Given the description of an element on the screen output the (x, y) to click on. 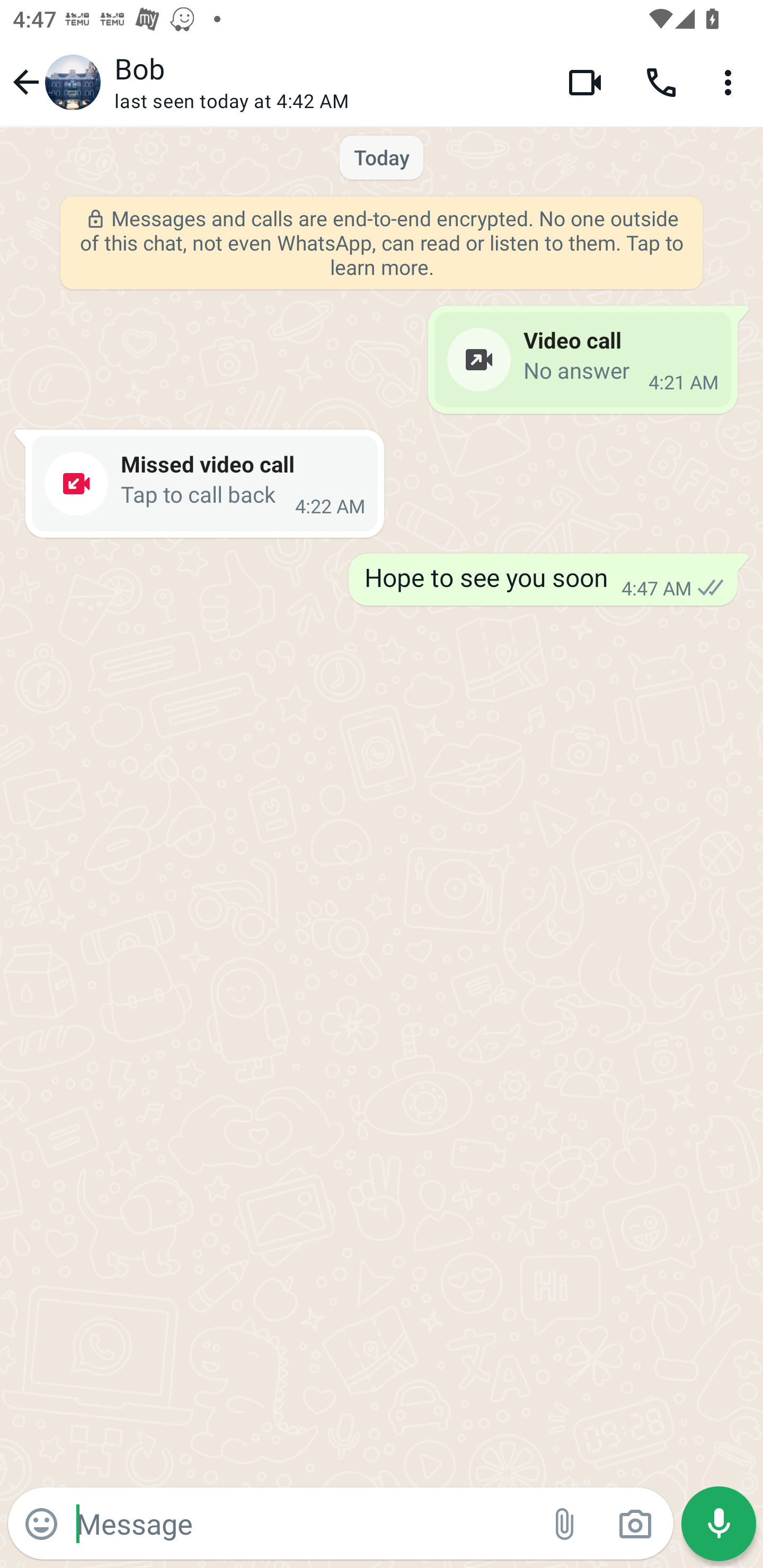
Bob last seen today at 4:42 AM (327, 82)
Navigate up (54, 82)
Video call (585, 81)
Voice call (661, 81)
More options (731, 81)
Emoji (41, 1523)
Attach (565, 1523)
Camera (634, 1523)
Message (303, 1523)
